Given the description of an element on the screen output the (x, y) to click on. 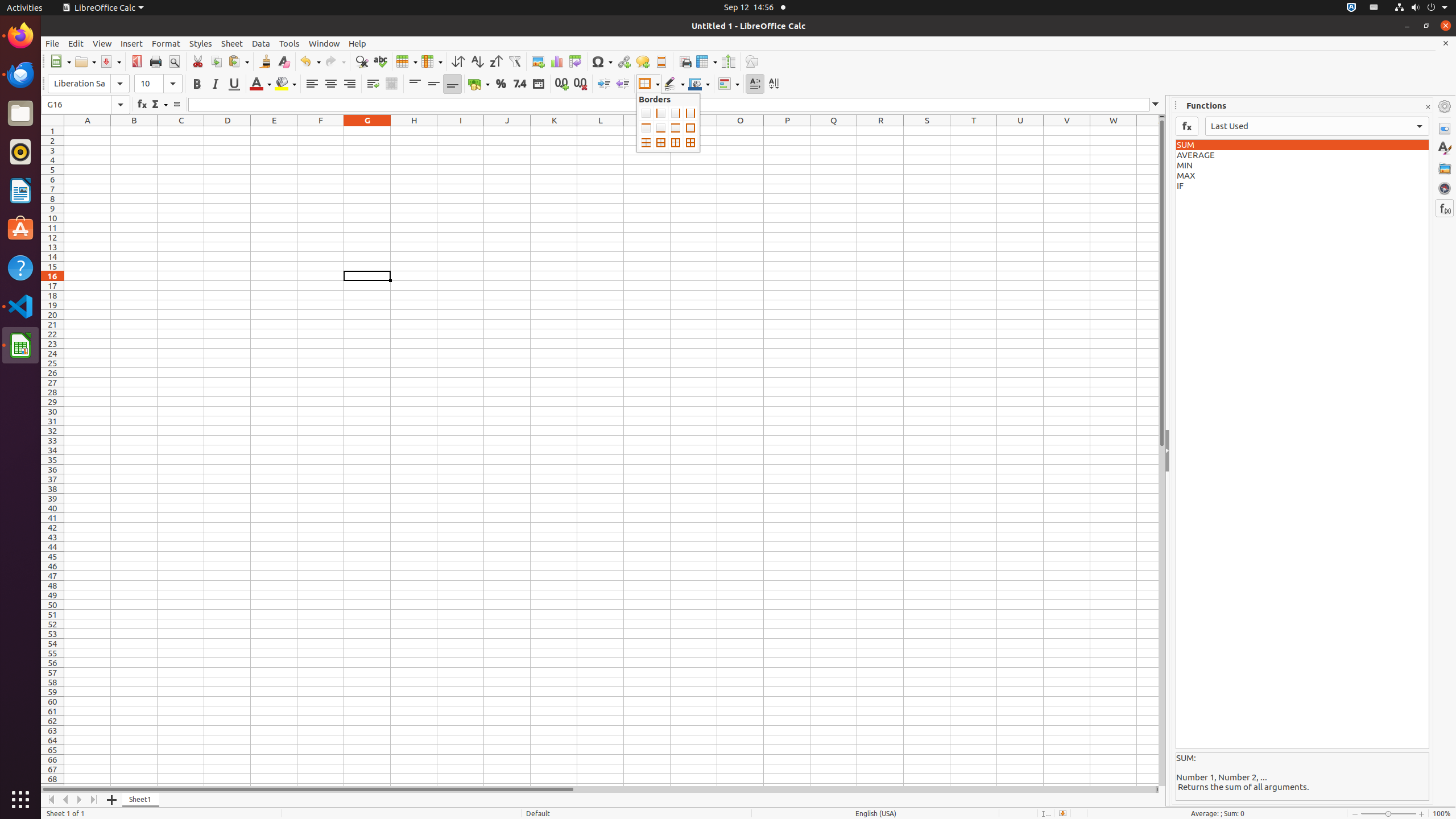
V1 Element type: table-cell (1066, 130)
Edit Element type: menu (75, 43)
Font Color Element type: push-button (260, 83)
Sort Descending Element type: push-button (495, 61)
Cut Element type: push-button (197, 61)
